Given the description of an element on the screen output the (x, y) to click on. 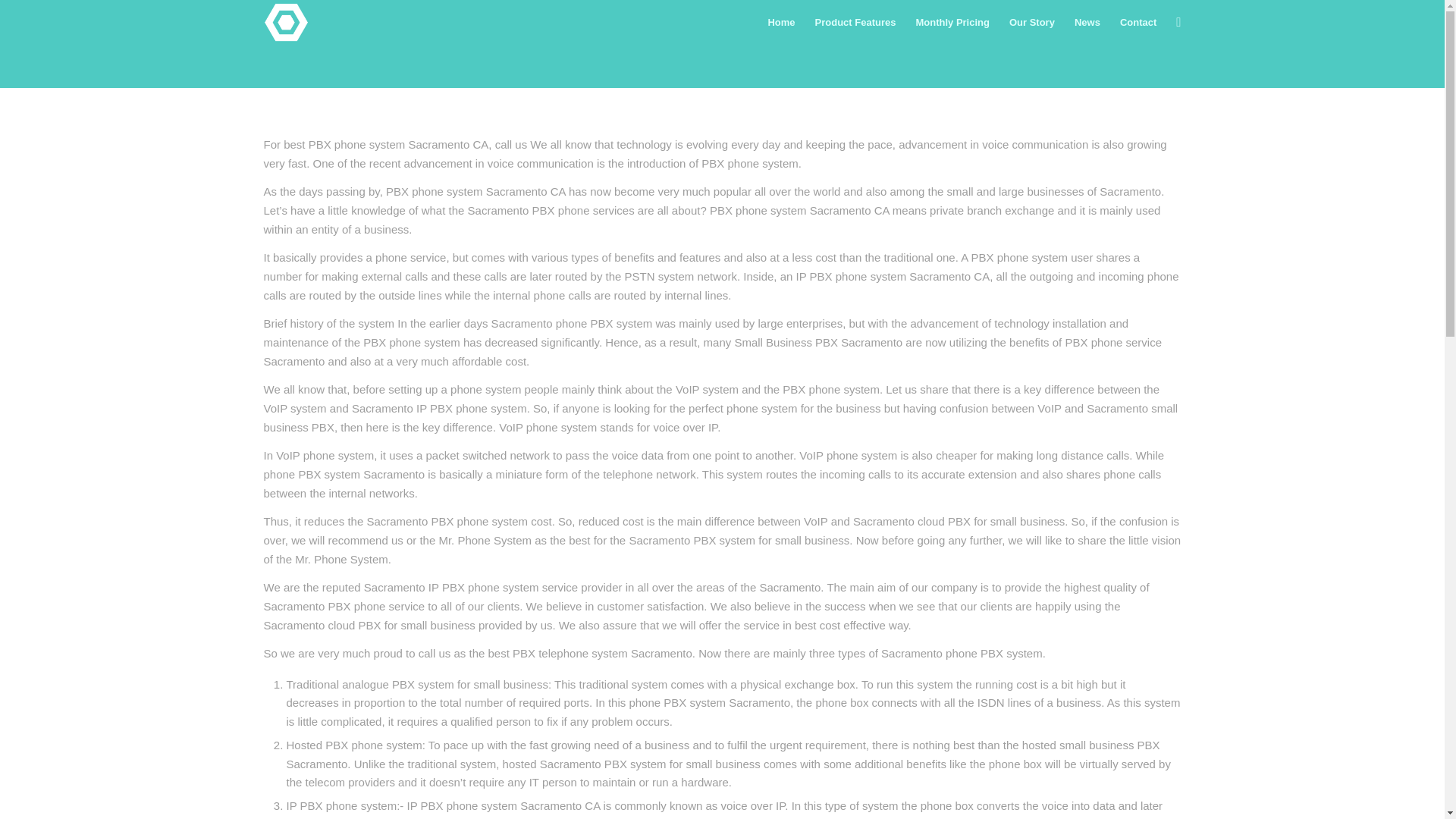
Our Story (1031, 22)
News (1086, 22)
Monthly Pricing (951, 22)
Product Features (855, 22)
Home (781, 22)
Contact (1137, 22)
